Given the description of an element on the screen output the (x, y) to click on. 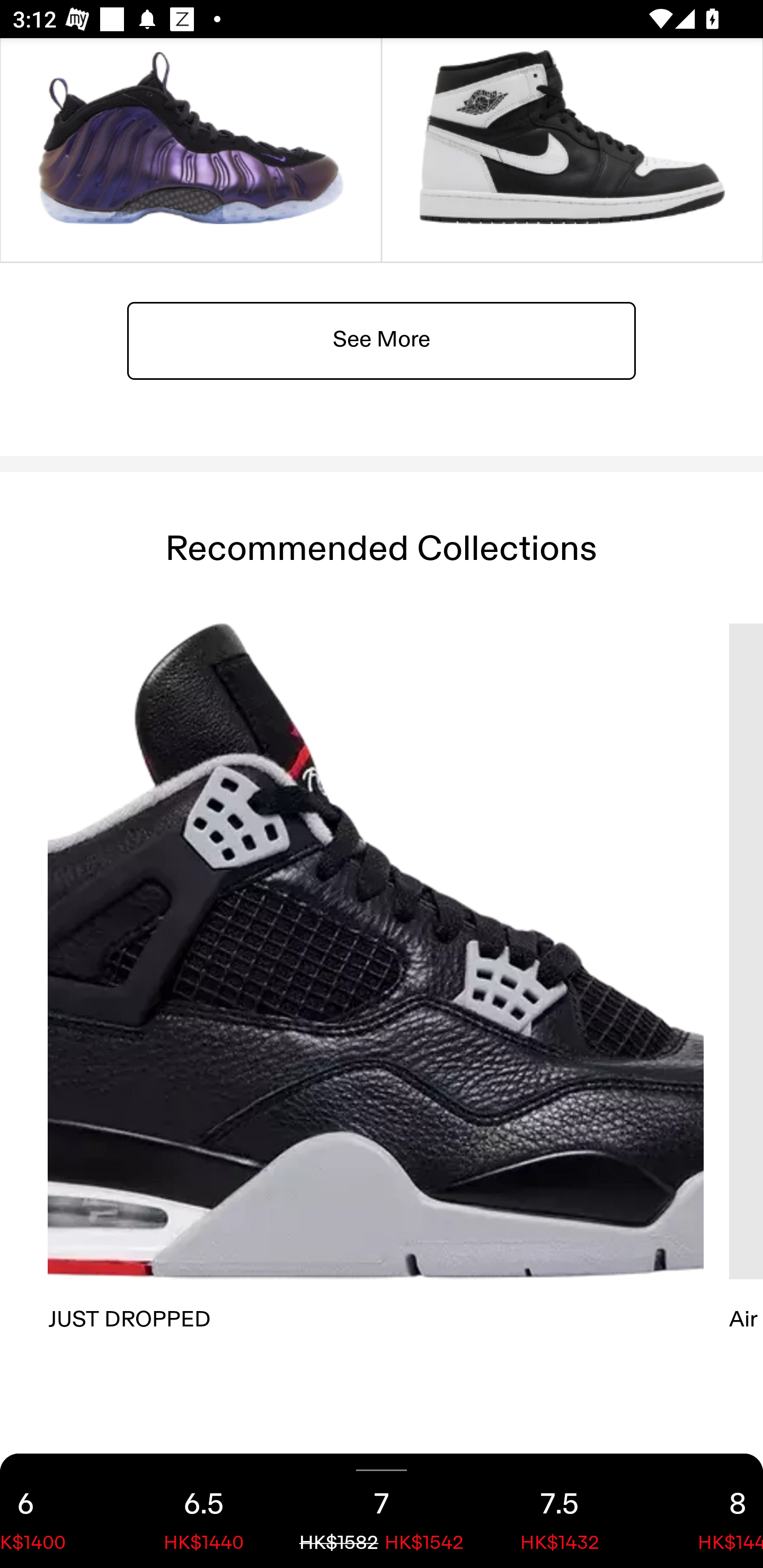
See More (381, 340)
6 HK$1400 (57, 1510)
6.5 HK$1440 (203, 1510)
7 HK$1582 HK$1542 (381, 1510)
7.5 HK$1432 (559, 1510)
8 HK$1440 (705, 1510)
